Given the description of an element on the screen output the (x, y) to click on. 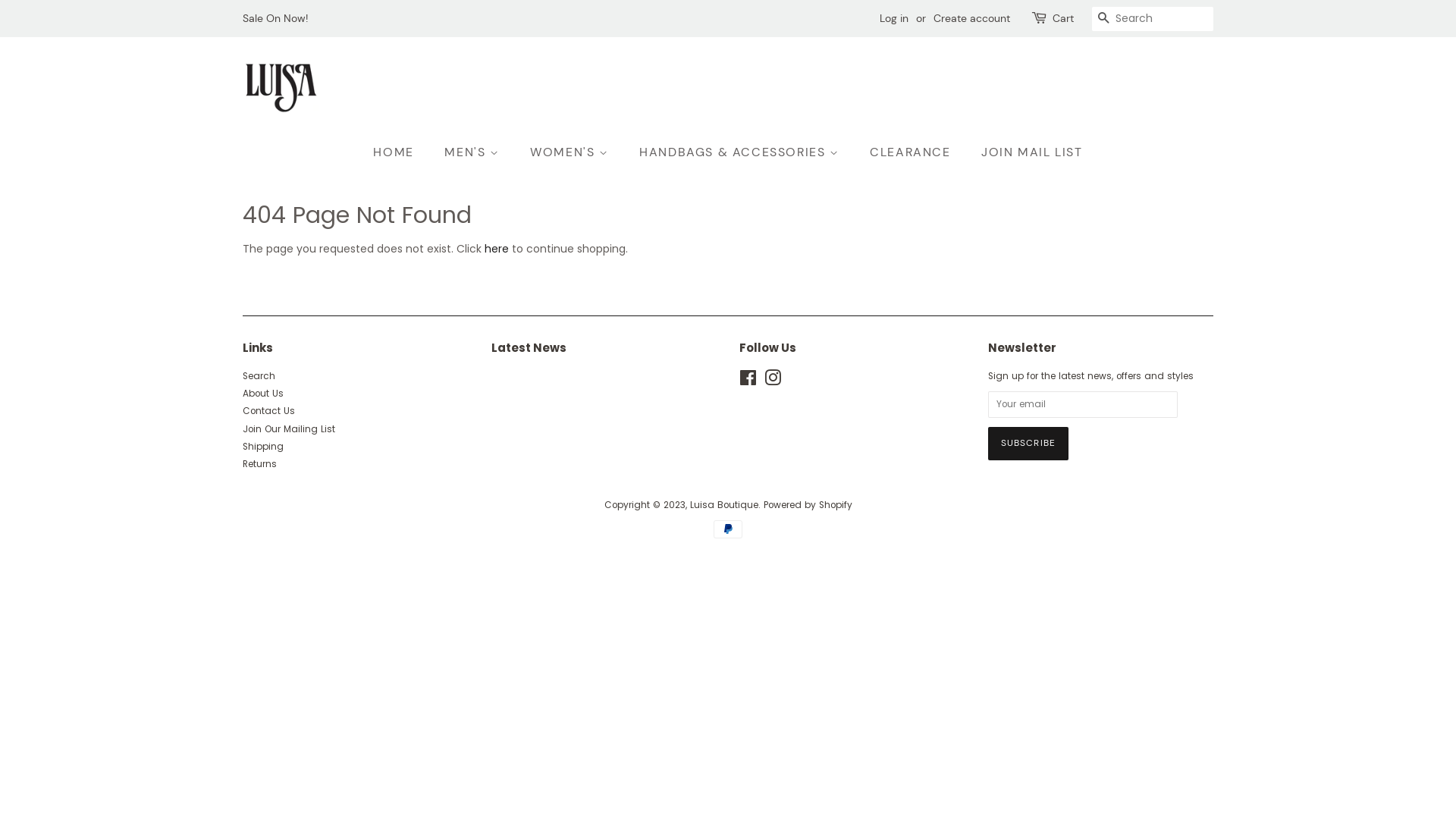
Create account Element type: text (971, 18)
Log in Element type: text (893, 18)
HANDBAGS & ACCESSORIES Element type: text (740, 151)
Facebook Element type: text (747, 381)
HOME Element type: text (400, 151)
Shipping Element type: text (262, 446)
About Us Element type: text (262, 393)
Search Element type: text (258, 376)
Contact Us Element type: text (268, 410)
Instagram Element type: text (772, 381)
WOMEN'S Element type: text (570, 151)
Cart Element type: text (1062, 18)
MEN'S Element type: text (473, 151)
Latest News Element type: text (528, 347)
here Element type: text (496, 248)
Returns Element type: text (259, 464)
Join Our Mailing List Element type: text (288, 429)
Powered by Shopify Element type: text (806, 504)
Luisa Boutique Element type: text (724, 504)
CLEARANCE Element type: text (911, 151)
JOIN MAIL LIST Element type: text (1025, 151)
Subscribe Element type: text (1027, 443)
SEARCH Element type: text (1104, 18)
